Given the description of an element on the screen output the (x, y) to click on. 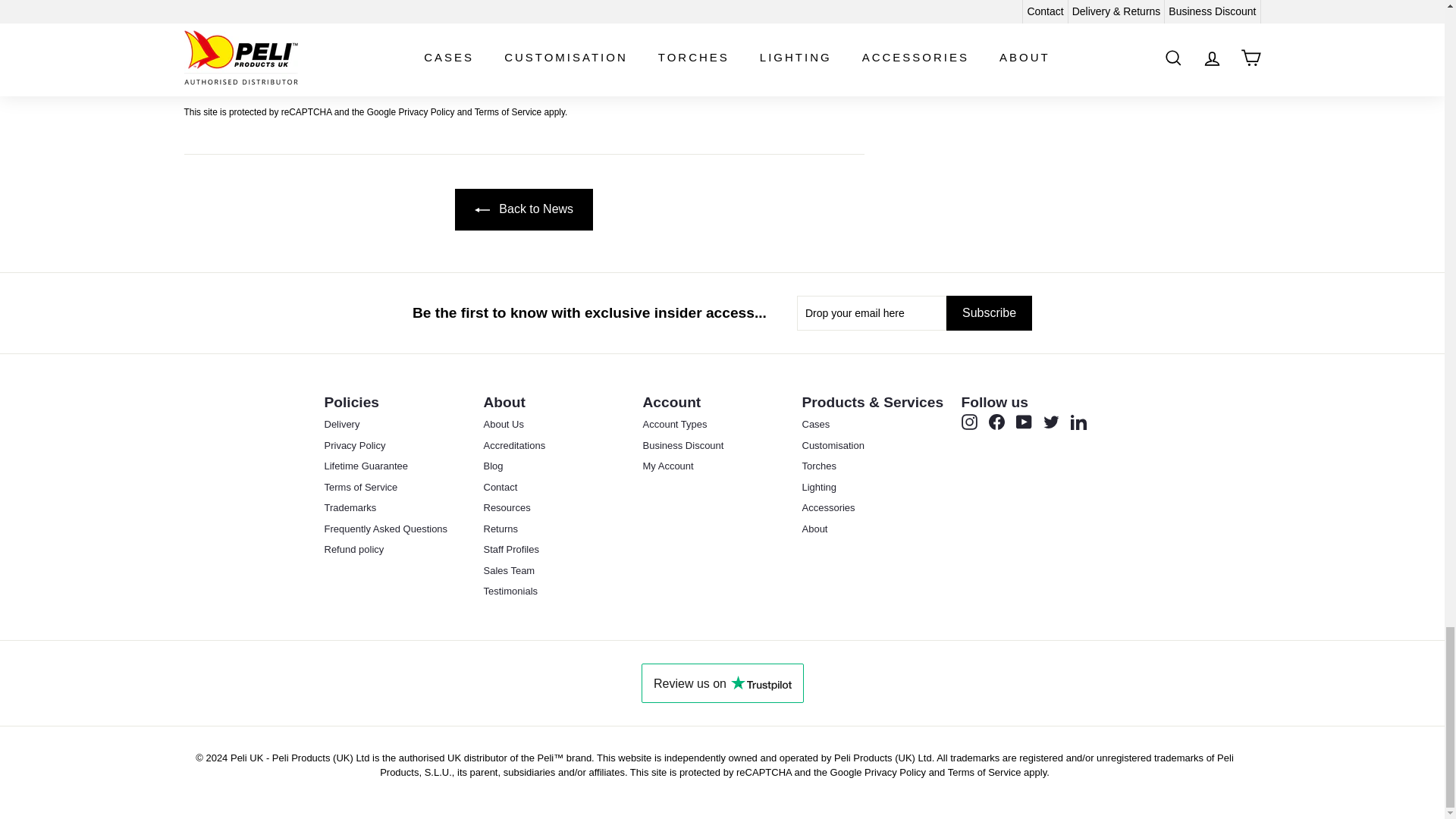
Peli UK on LinkedIn (1078, 421)
Customer reviews powered by Trustpilot (721, 682)
Peli UK on Twitter (1051, 421)
Peli UK on YouTube (1024, 421)
Peli UK on Instagram (968, 421)
Peli UK on Facebook (996, 421)
